Given the description of an element on the screen output the (x, y) to click on. 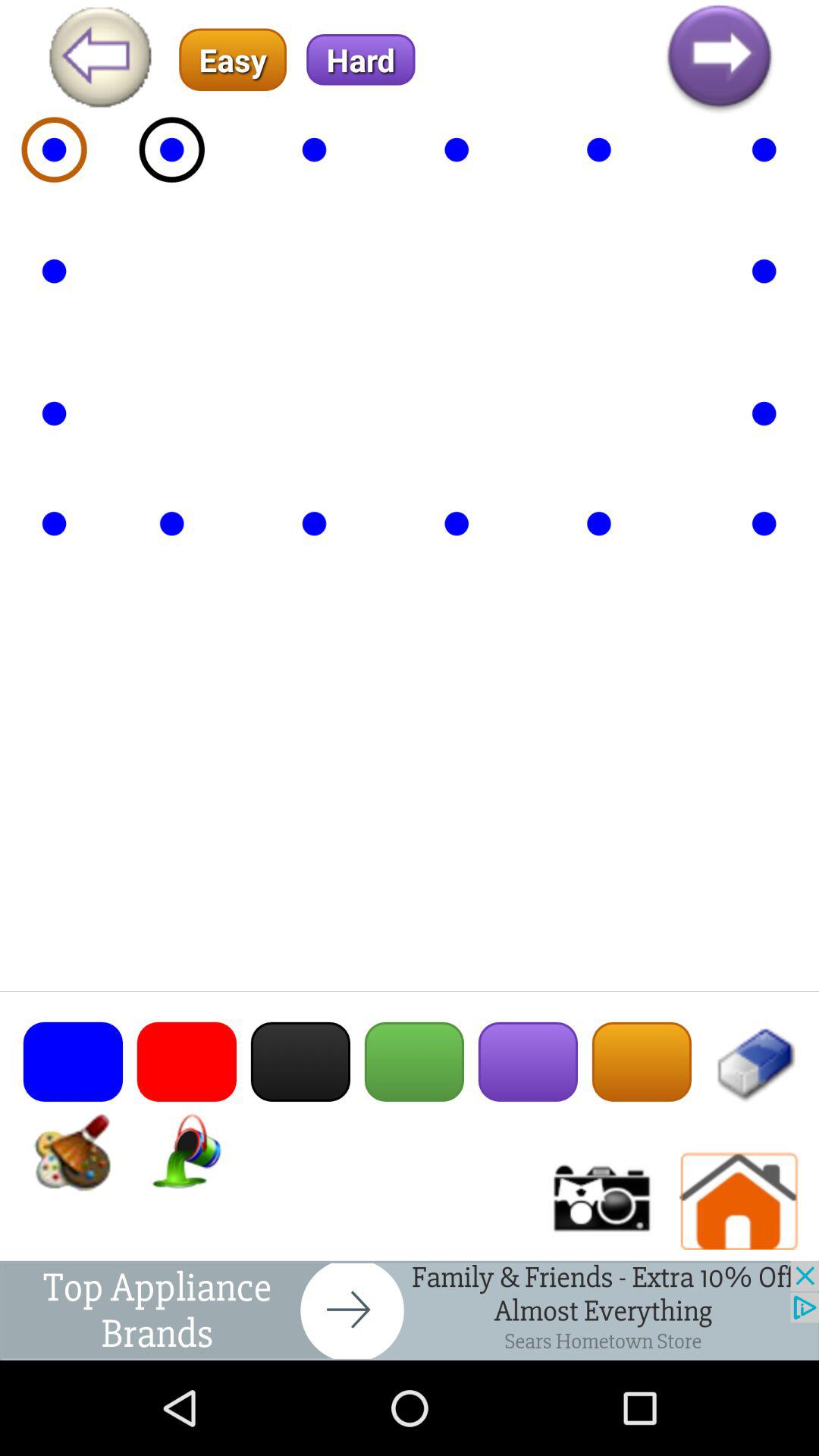
camera (599, 1200)
